Given the description of an element on the screen output the (x, y) to click on. 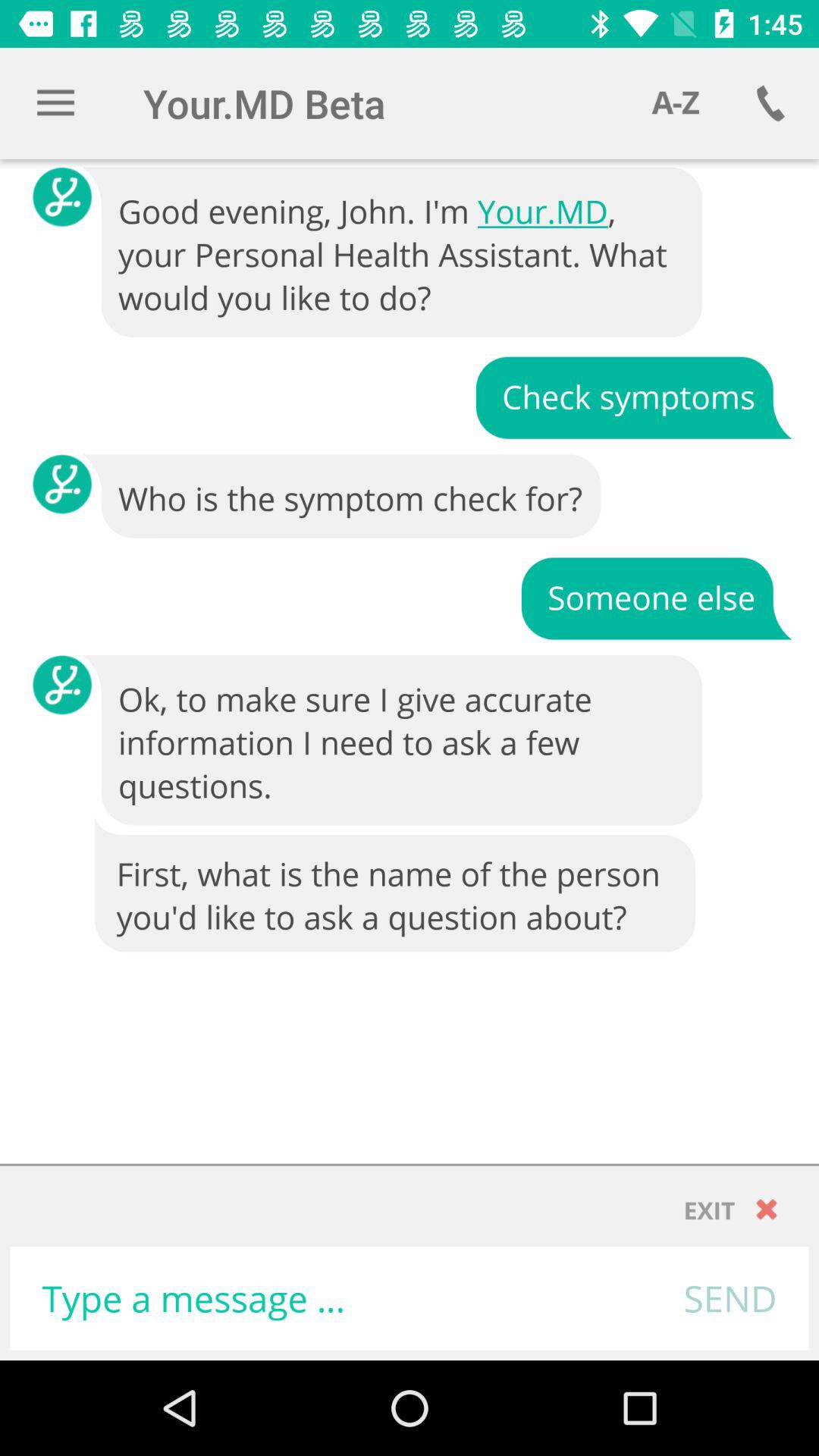
scroll until someone else item (656, 597)
